Given the description of an element on the screen output the (x, y) to click on. 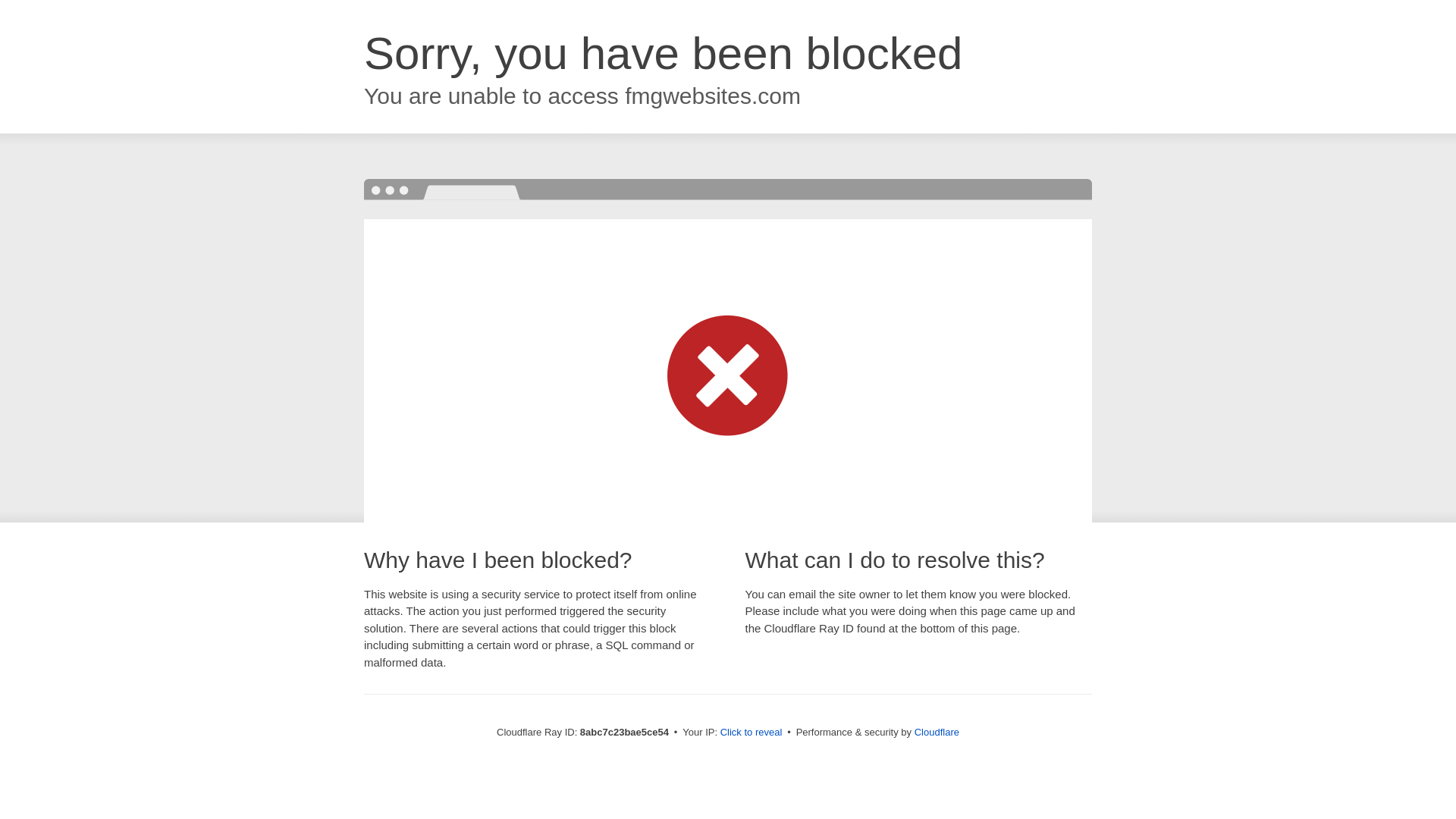
Click to reveal (751, 732)
Cloudflare (936, 731)
